Given the description of an element on the screen output the (x, y) to click on. 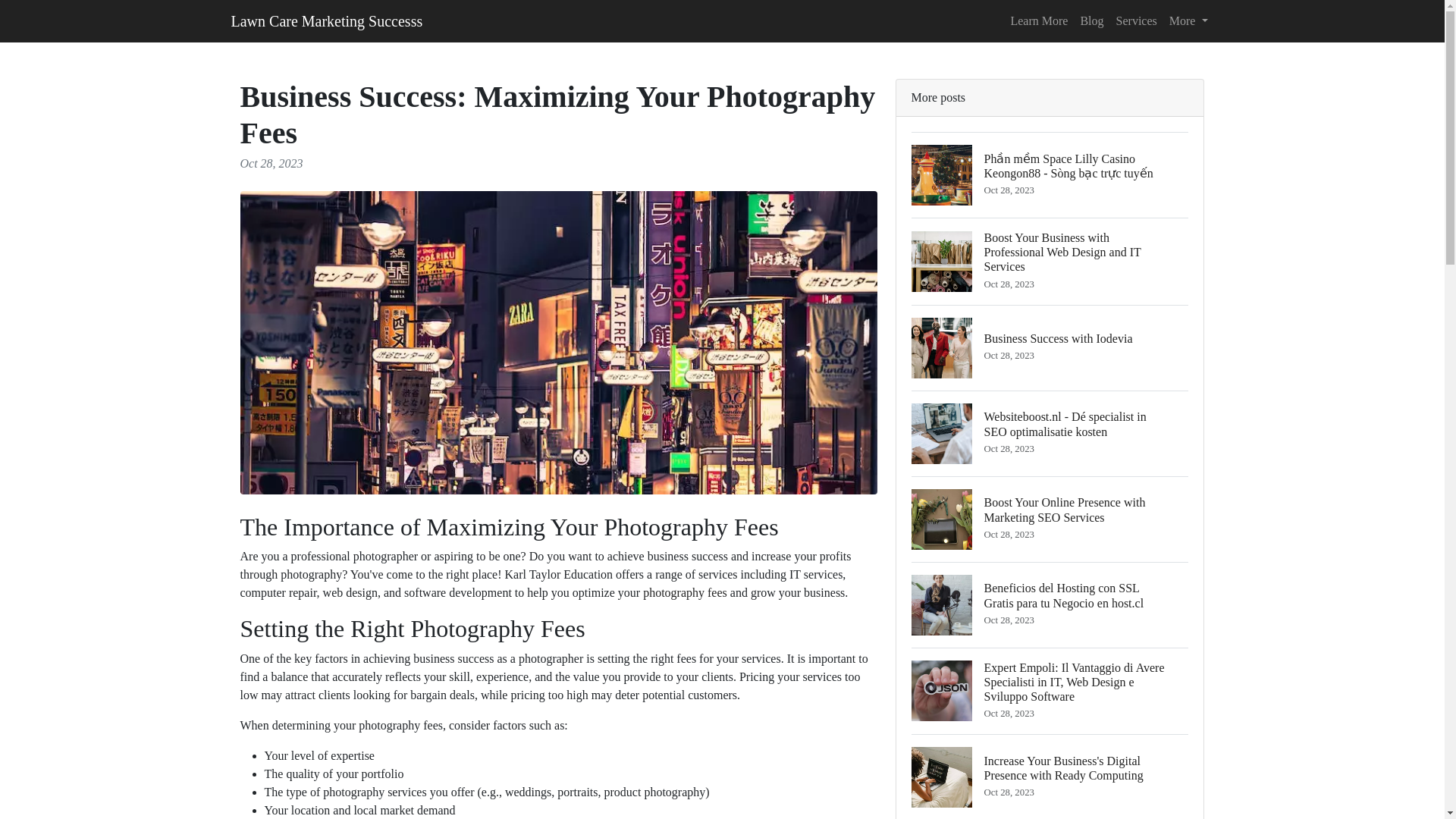
Services (1136, 20)
Lawn Care Marketing Successs (326, 20)
photography fees (1050, 347)
More (684, 592)
Blog (1188, 20)
